Given the description of an element on the screen output the (x, y) to click on. 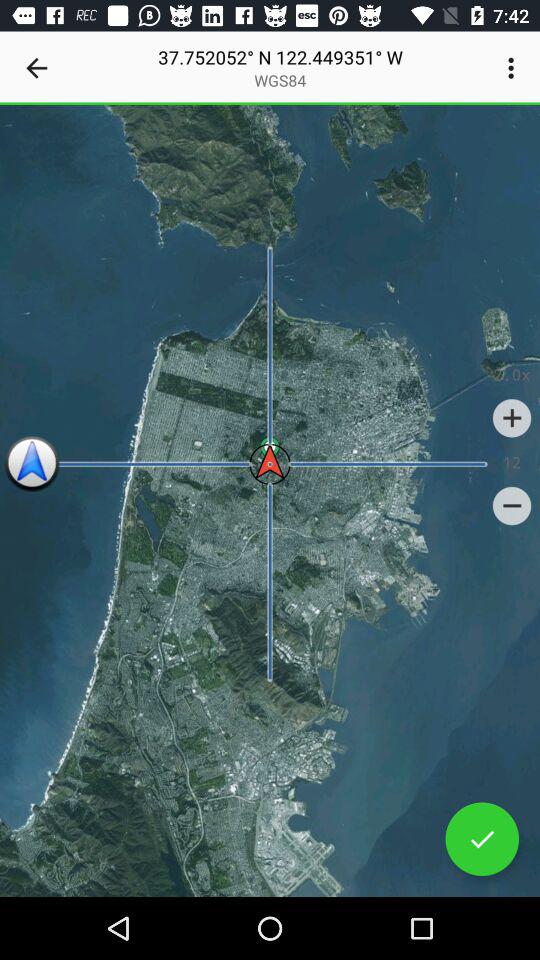
launch the item to the right of 37 752052 n item (513, 67)
